Given the description of an element on the screen output the (x, y) to click on. 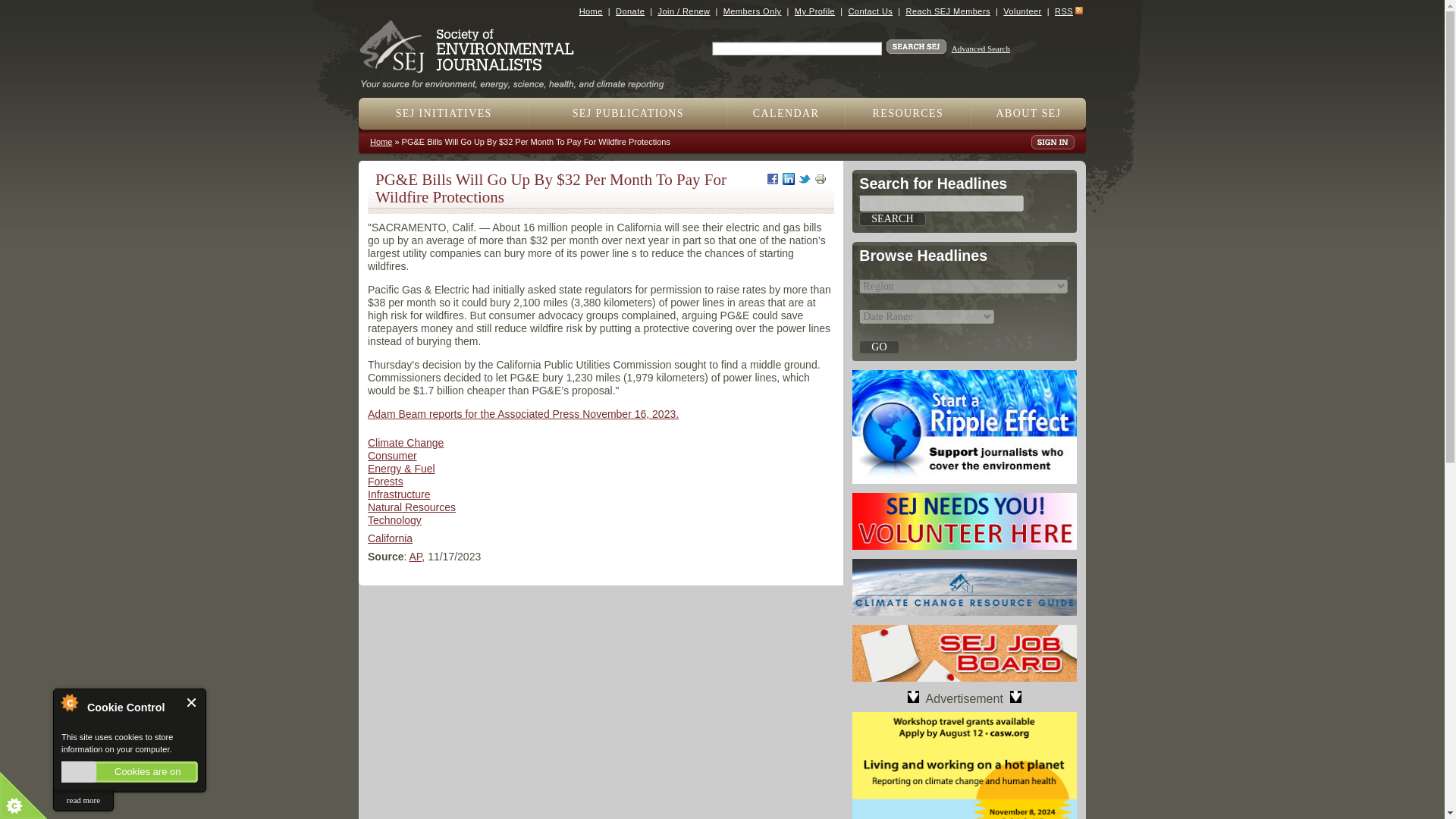
Reach SEJ Members (947, 10)
Go (878, 346)
Donate (630, 10)
Members Only (752, 10)
SEJ PUBLICATIONS (627, 113)
My Profile (814, 10)
SEJ INITIATIVES (443, 113)
Close (191, 702)
Contact Us (869, 10)
read more (82, 801)
